Given the description of an element on the screen output the (x, y) to click on. 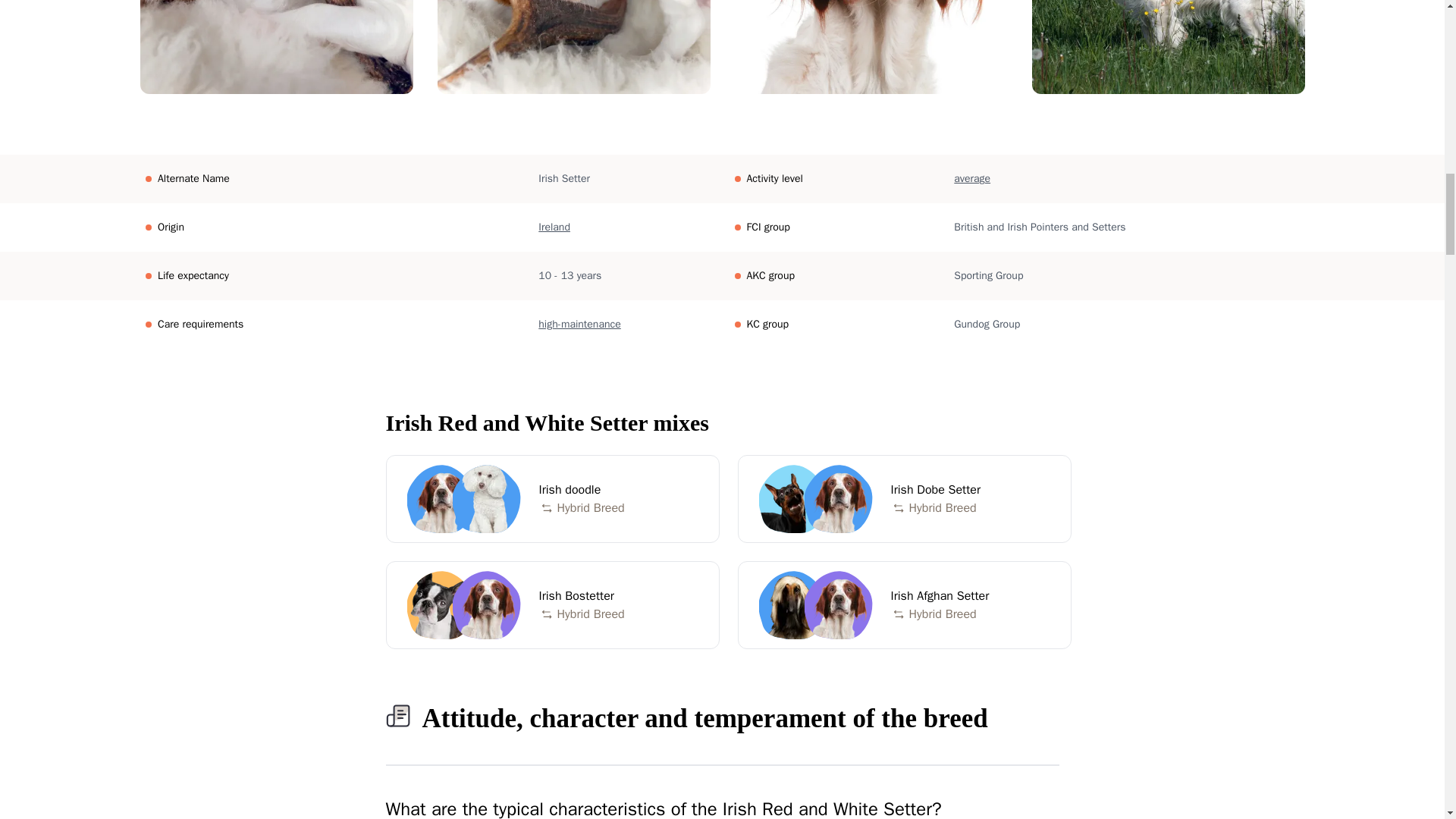
high-maintenance (579, 323)
Irish red and white setter male (552, 498)
Irish red and white setter Breed description (1167, 47)
Irish Red and White Setter (440, 499)
Irish red and white setter puppy (870, 47)
Irish red and White Setter puppies on coat (275, 47)
